Given the description of an element on the screen output the (x, y) to click on. 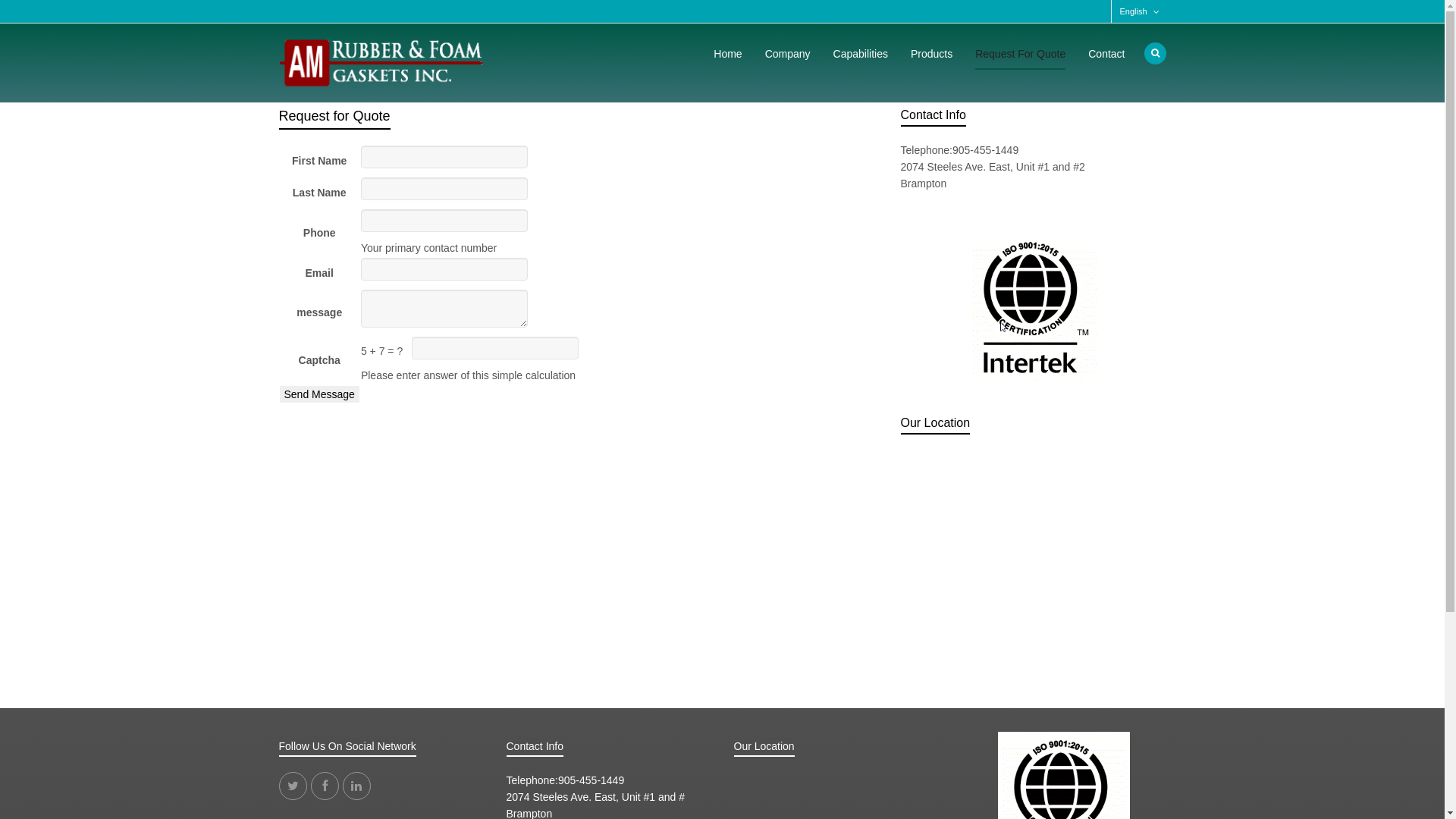
Company Element type: text (787, 53)
Contact Element type: text (1106, 53)
Request For Quote Element type: text (1020, 53)
Products Element type: text (931, 53)
Capabilities Element type: text (860, 53)
Home Element type: text (727, 53)
Send Message Element type: text (318, 393)
English Element type: text (1132, 11)
